Given the description of an element on the screen output the (x, y) to click on. 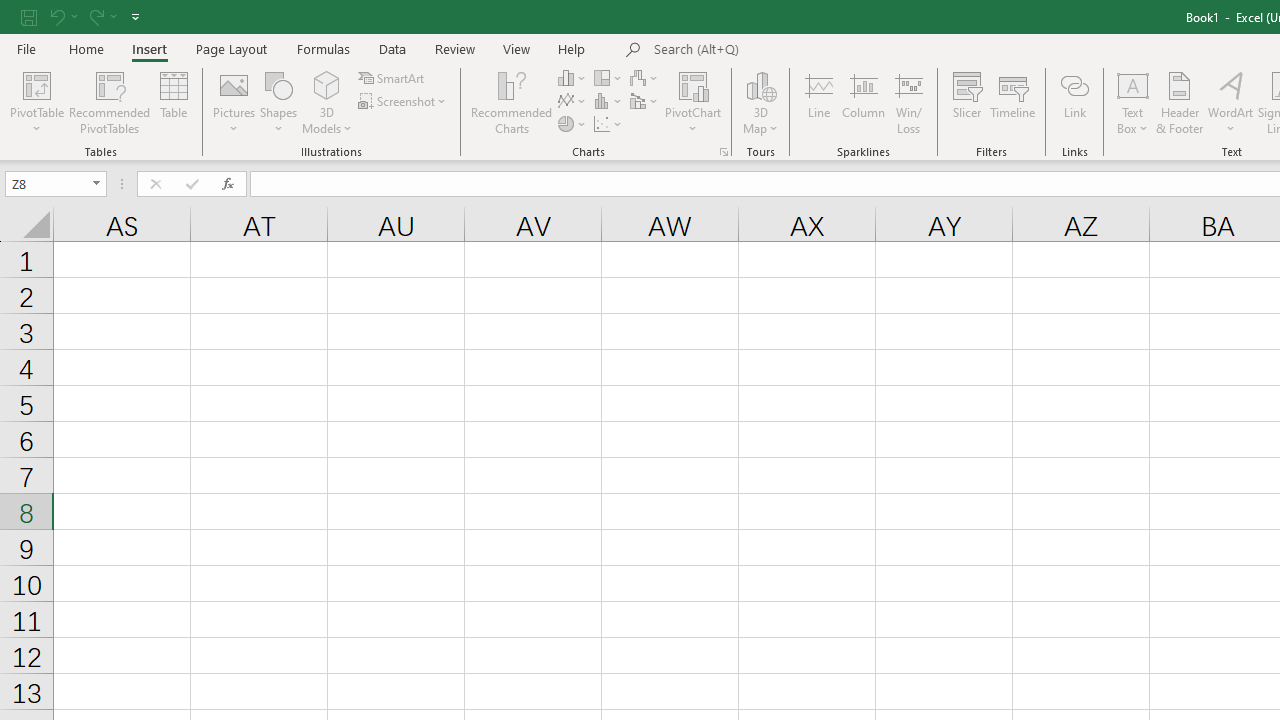
Insert Hierarchy Chart (609, 78)
PivotTable (36, 84)
Insert Statistic Chart (609, 101)
3D Models (326, 102)
Header & Footer... (1179, 102)
Insert Line or Area Chart (573, 101)
Column (863, 102)
Pictures (234, 102)
Insert Scatter (X, Y) or Bubble Chart (609, 124)
Line (818, 102)
